Given the description of an element on the screen output the (x, y) to click on. 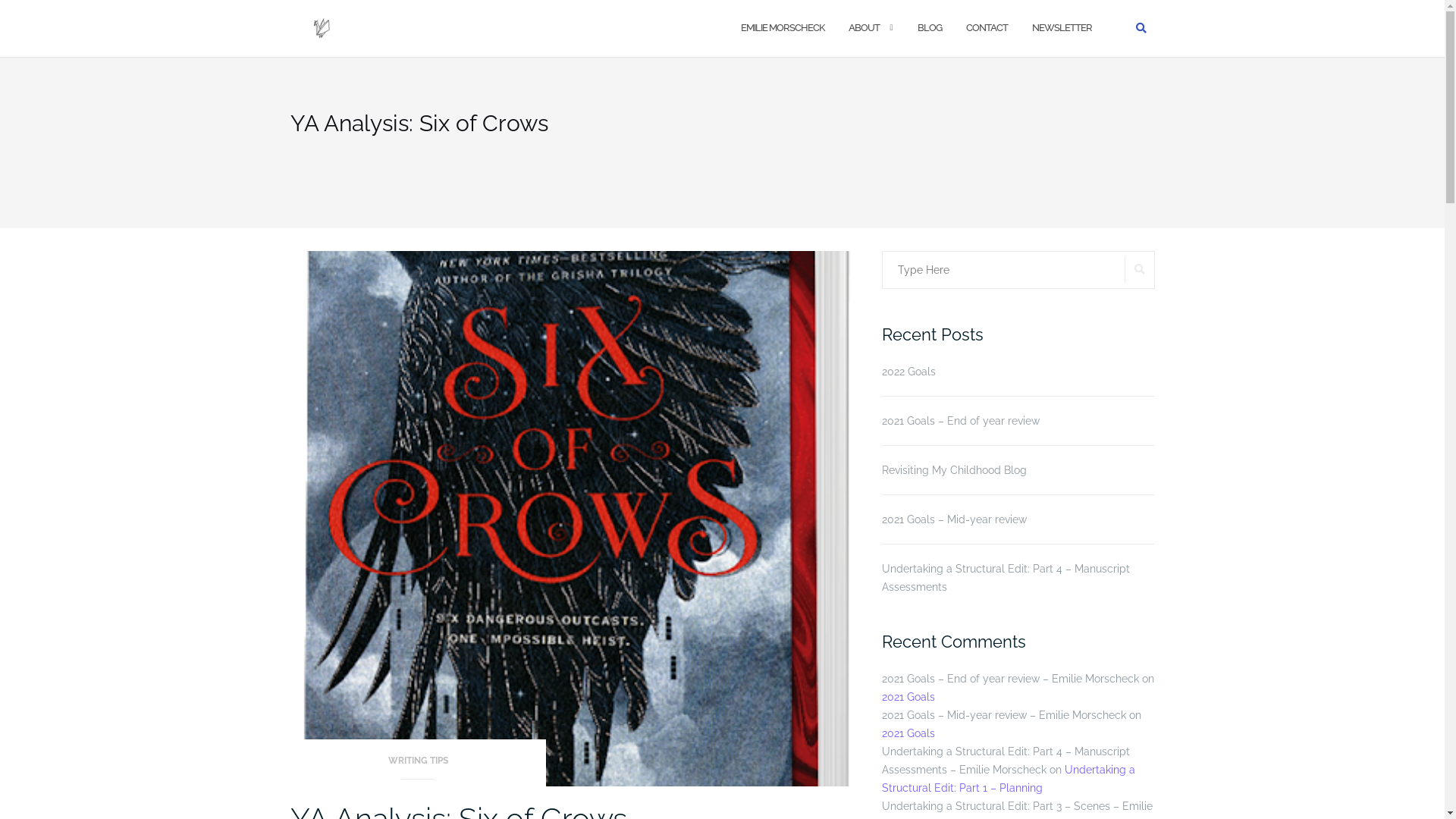
WRITING TIPS Element type: text (417, 765)
BLOG Element type: text (929, 28)
NEWSLETTER Element type: text (1061, 28)
2022 Goals Element type: text (1017, 371)
CONTACT Element type: text (986, 28)
2021 Goals Element type: text (907, 733)
EMILIE MORSCHECK Element type: text (781, 28)
2021 Goals Element type: text (907, 696)
Revisiting My Childhood Blog Element type: text (1017, 470)
SEARCH Element type: text (1138, 269)
ABOUT Element type: text (862, 28)
